Given the description of an element on the screen output the (x, y) to click on. 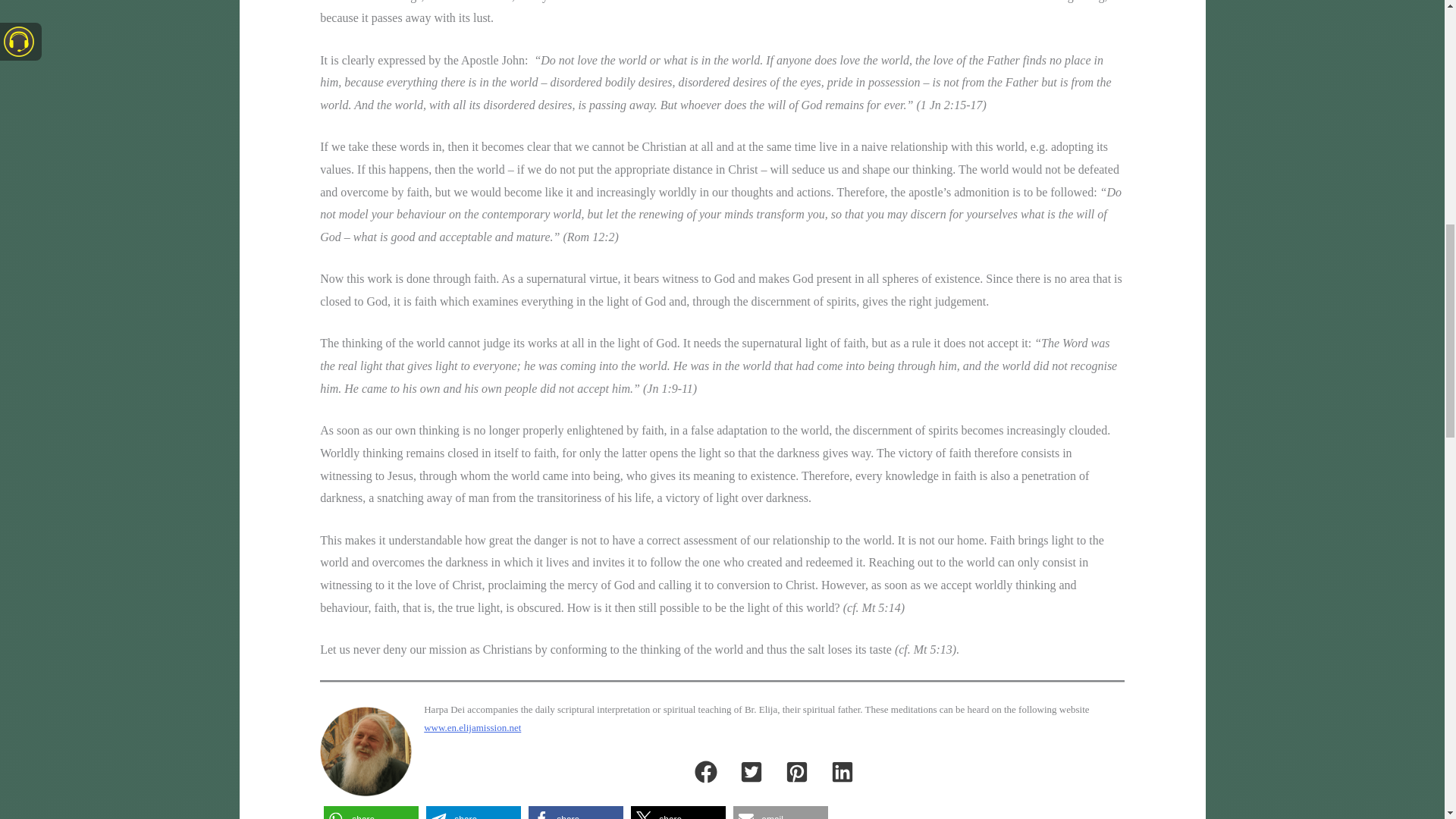
Send by email (780, 812)
Share on Whatsapp (371, 812)
share  (677, 812)
Share on Facebook (575, 812)
share  (473, 812)
www.en.elijamission.net (472, 727)
share  (575, 812)
Share on Telegram (473, 812)
email  (780, 812)
Share on X (677, 812)
share  (371, 812)
